Given the description of an element on the screen output the (x, y) to click on. 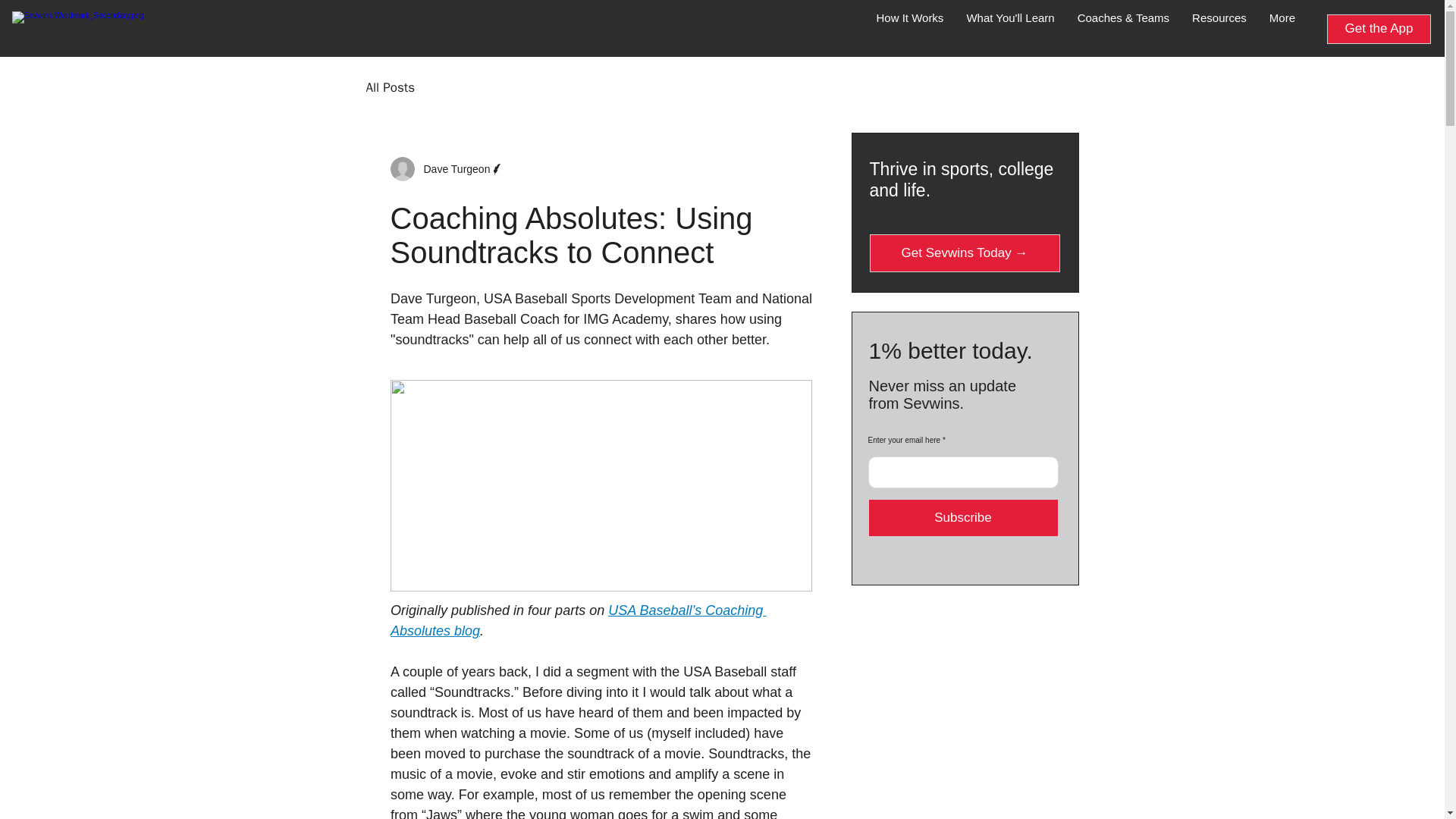
Resources (1218, 28)
Dave Turgeon (446, 168)
Subscribe (962, 517)
Get the App (1378, 29)
Dave Turgeon (451, 168)
All Posts (389, 87)
What You'll Learn (1010, 28)
How It Works (909, 28)
